Given the description of an element on the screen output the (x, y) to click on. 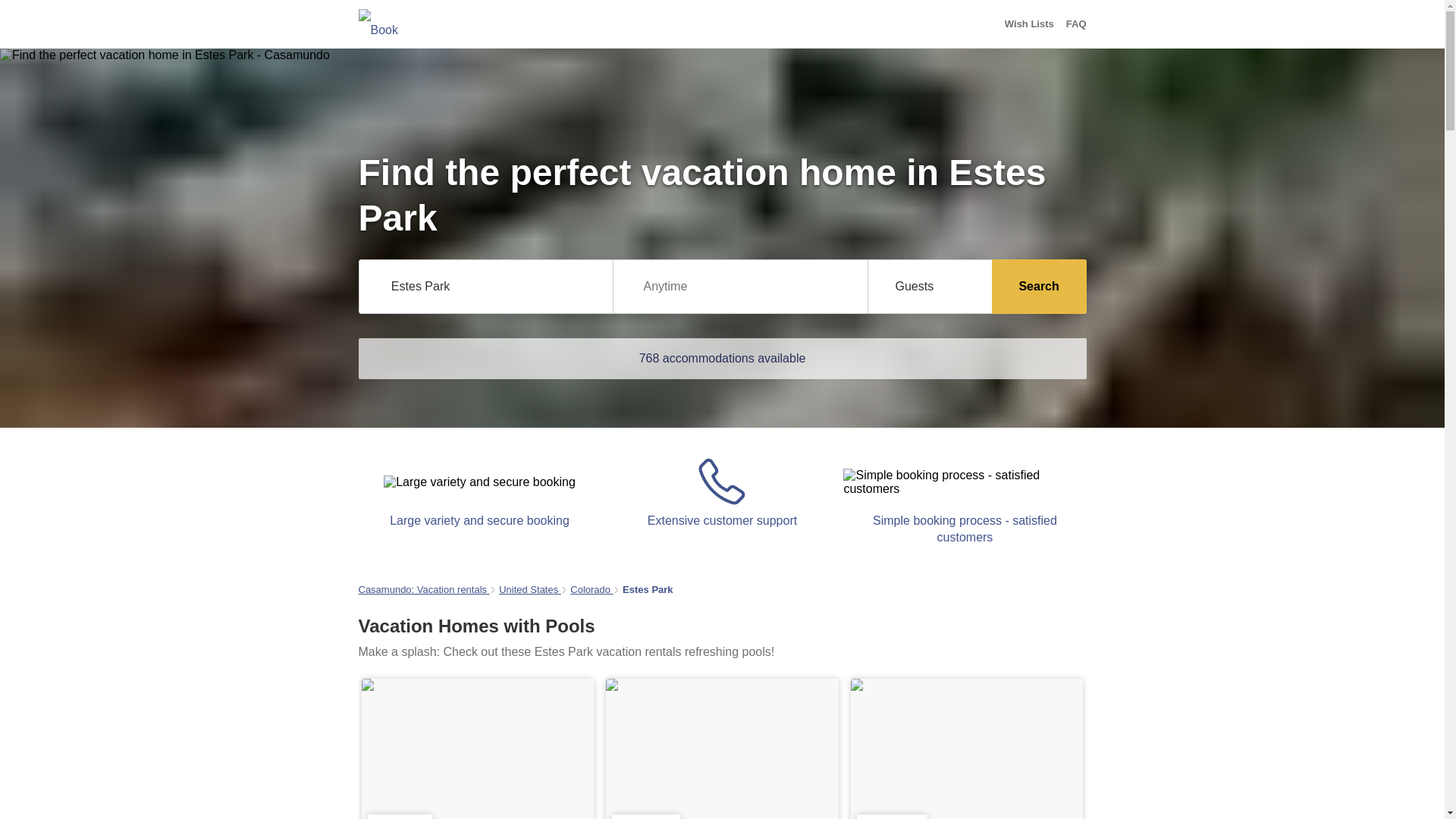
Colorado (591, 589)
Casamundo: Vacation rentals (423, 589)
United States (529, 589)
United States (529, 589)
Search (1038, 286)
Casamundo: Vacation rentals (423, 589)
Wish Lists (1029, 24)
Colorado (591, 589)
